Given the description of an element on the screen output the (x, y) to click on. 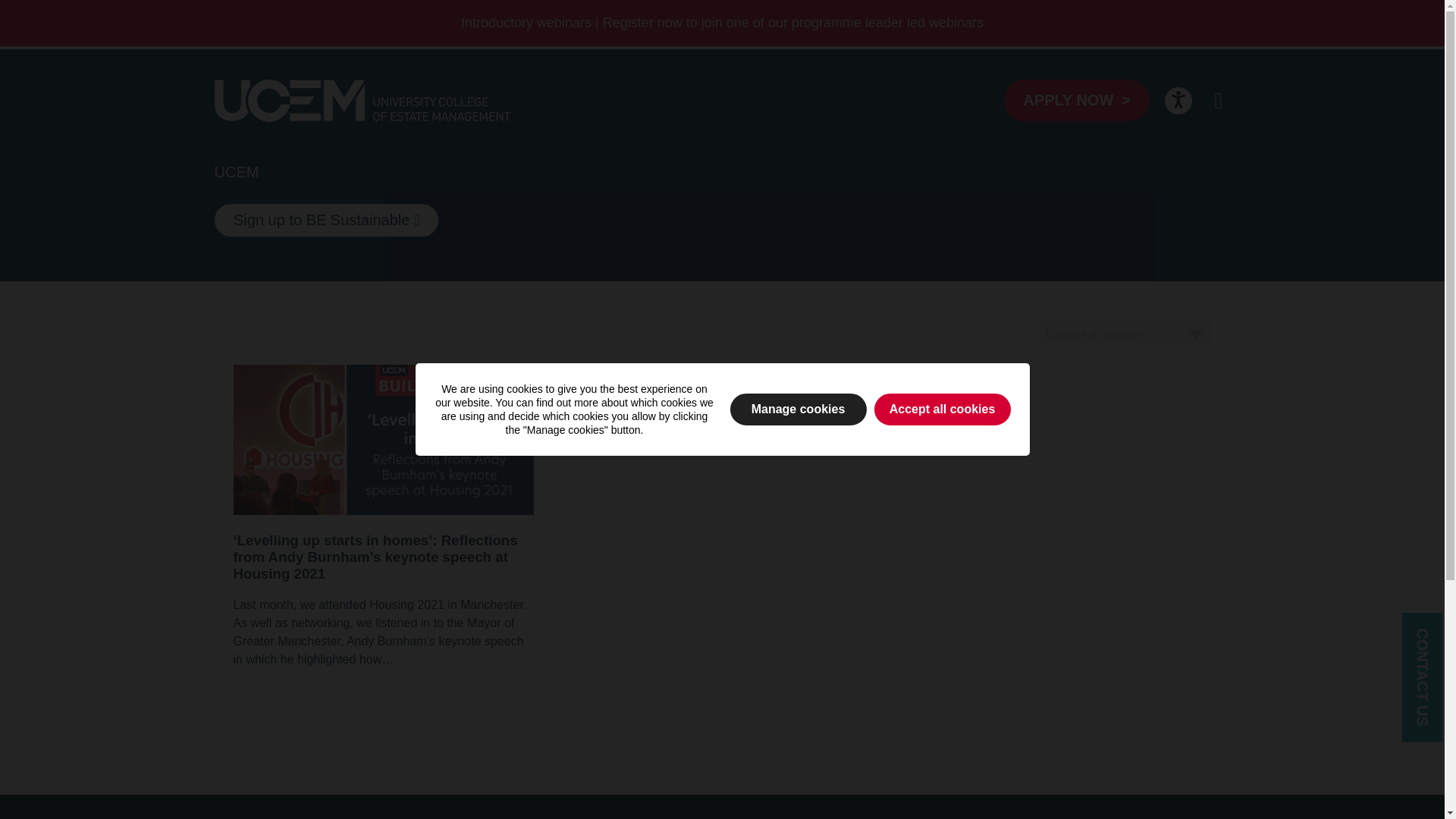
Apply now (1076, 100)
Accessibility (1178, 100)
APPLY NOW (1076, 100)
Accept all cookies (941, 409)
Manage cookies (797, 409)
